Given the description of an element on the screen output the (x, y) to click on. 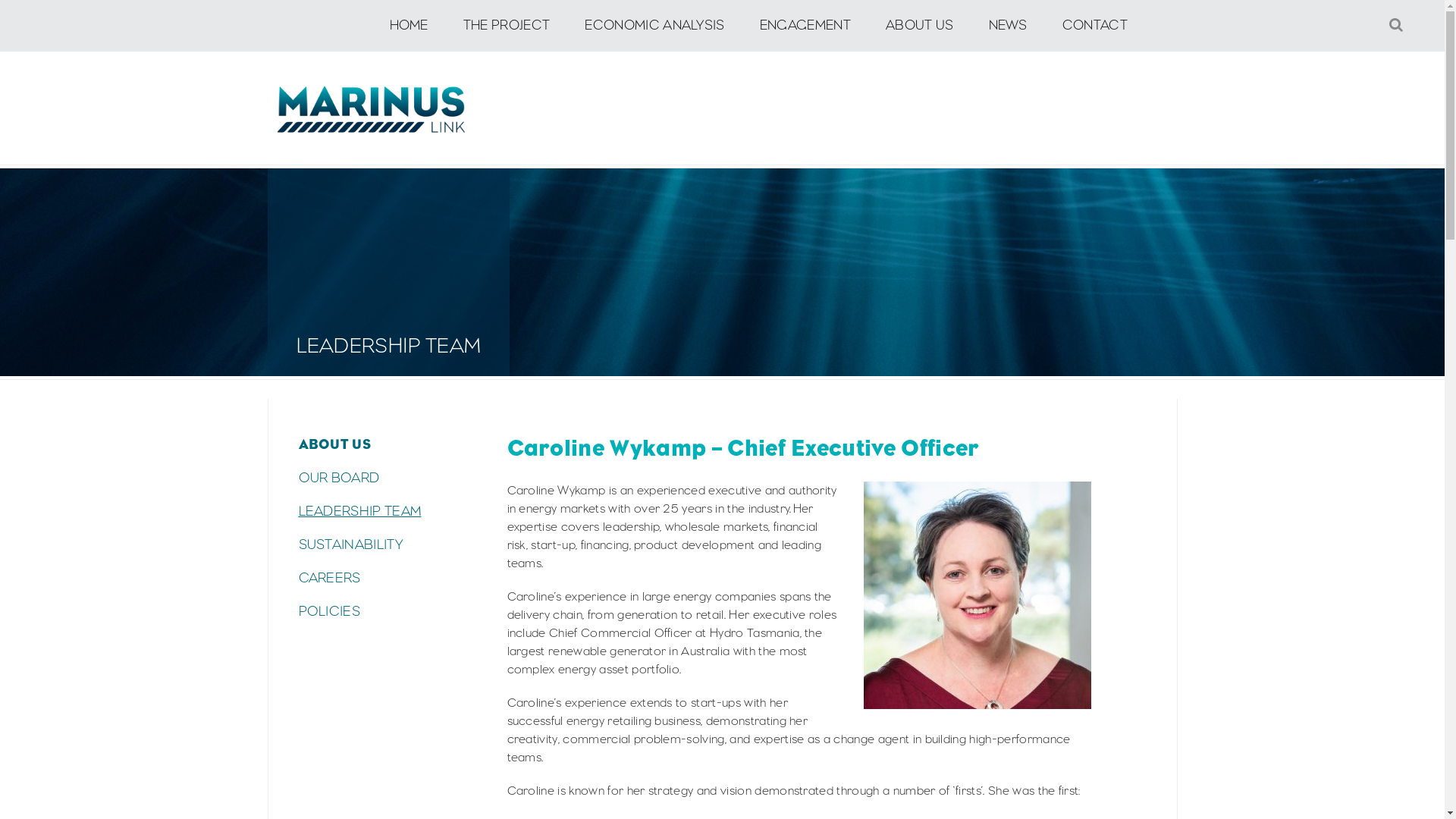
OUR BOARD Element type: text (393, 477)
  Element type: text (370, 109)
NEWS Element type: text (1007, 25)
SUSTAINABILITY Element type: text (393, 544)
HOME Element type: text (408, 25)
THE PROJECT Element type: text (506, 25)
ENGAGEMENT Element type: text (805, 25)
ECONOMIC ANALYSIS Element type: text (654, 25)
LEADERSHIP TEAM Element type: text (393, 511)
CONTACT Element type: text (1094, 25)
POLICIES Element type: text (393, 611)
CAREERS Element type: text (393, 577)
ABOUT US Element type: text (919, 25)
ABOUT US Element type: text (393, 444)
